Given the description of an element on the screen output the (x, y) to click on. 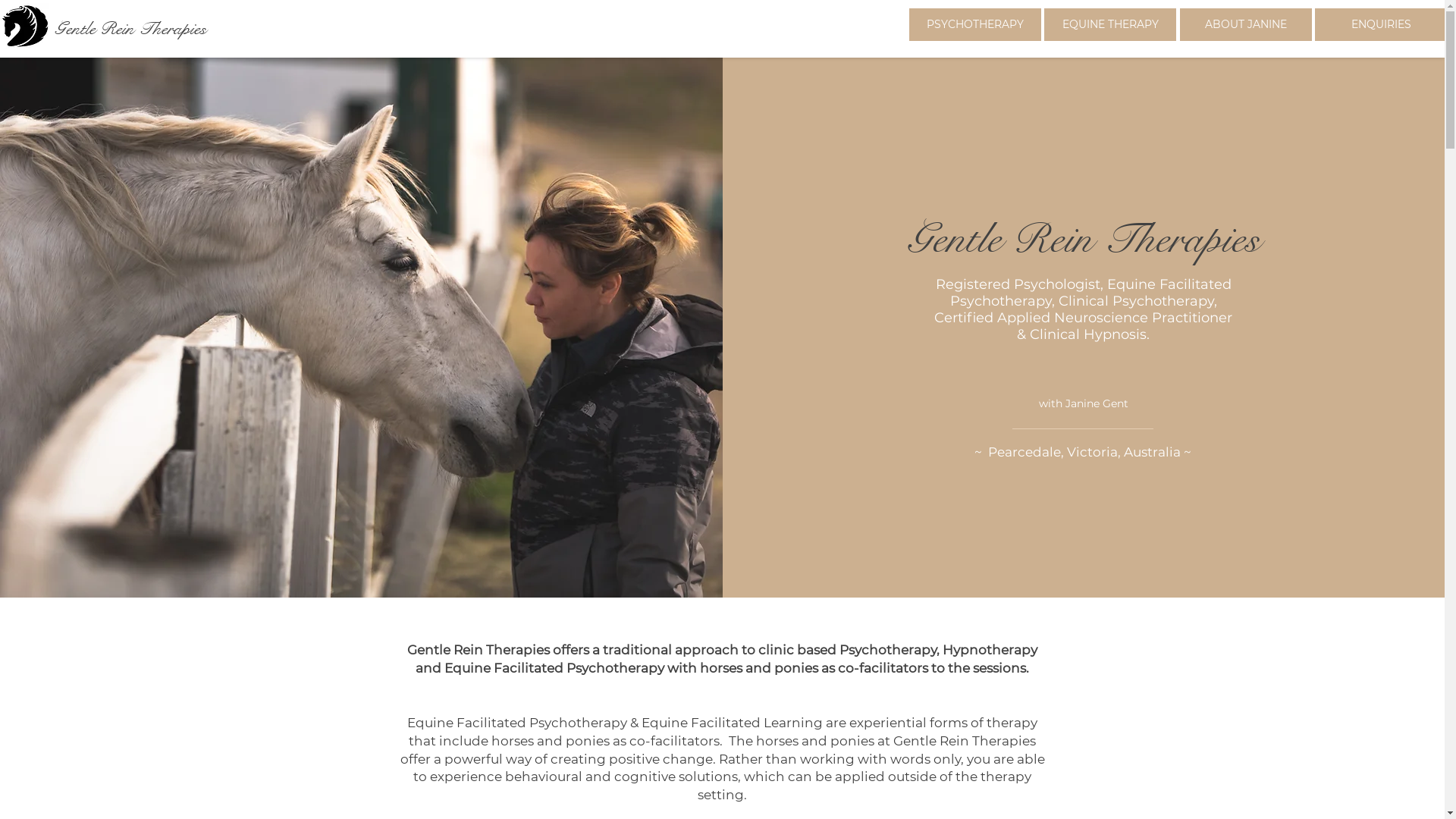
ABOUT JANINE Element type: text (1245, 24)
Gentle Rein Therapies Element type: text (130, 28)
ENQUIRIES Element type: text (1380, 24)
EQUINE THERAPY Element type: text (1110, 24)
Gentle Rein Therapies Element type: text (1083, 239)
PSYCHOTHERAPY Element type: text (975, 24)
